Given the description of an element on the screen output the (x, y) to click on. 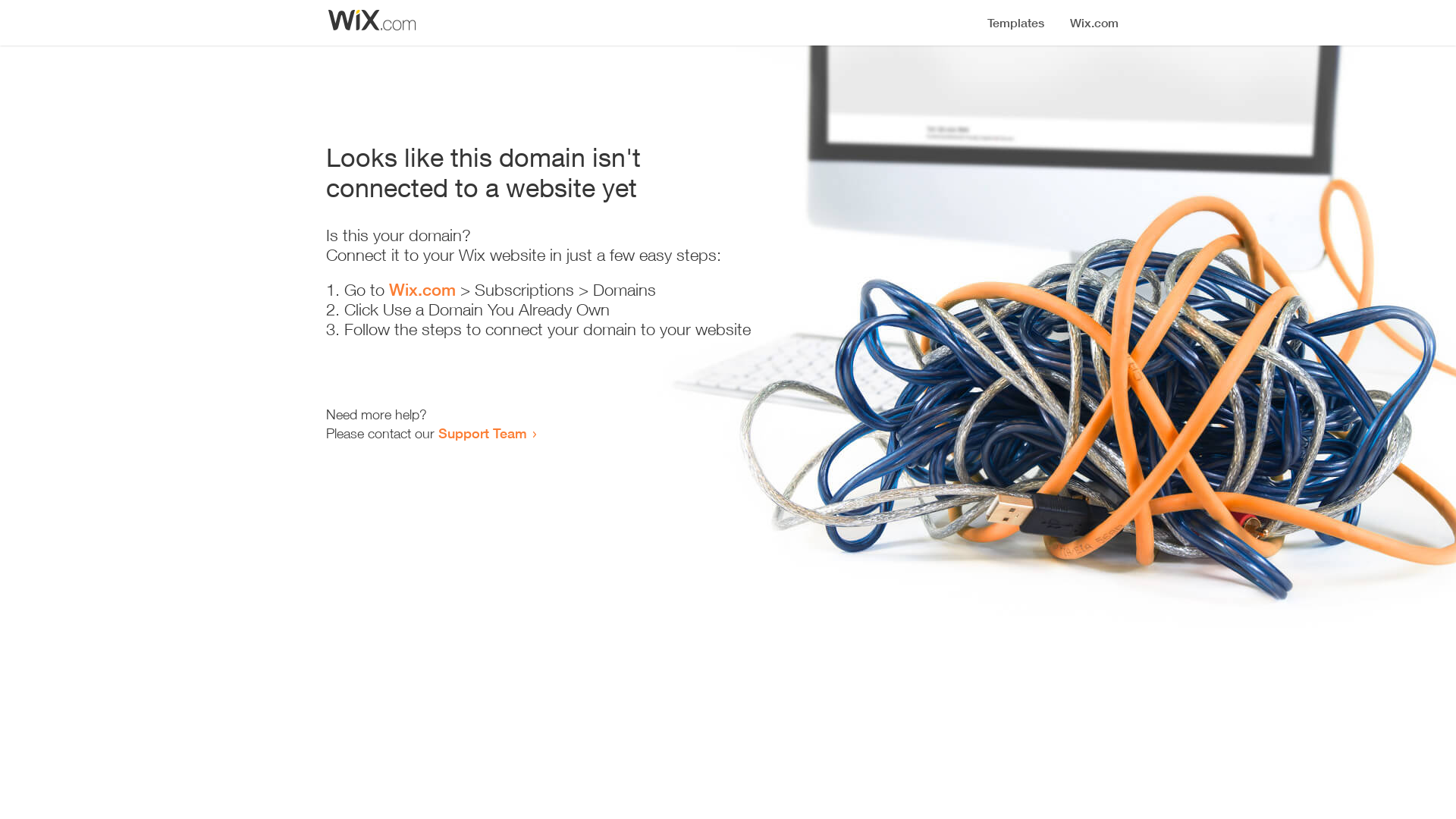
Support Team Element type: text (482, 432)
Wix.com Element type: text (422, 289)
